Given the description of an element on the screen output the (x, y) to click on. 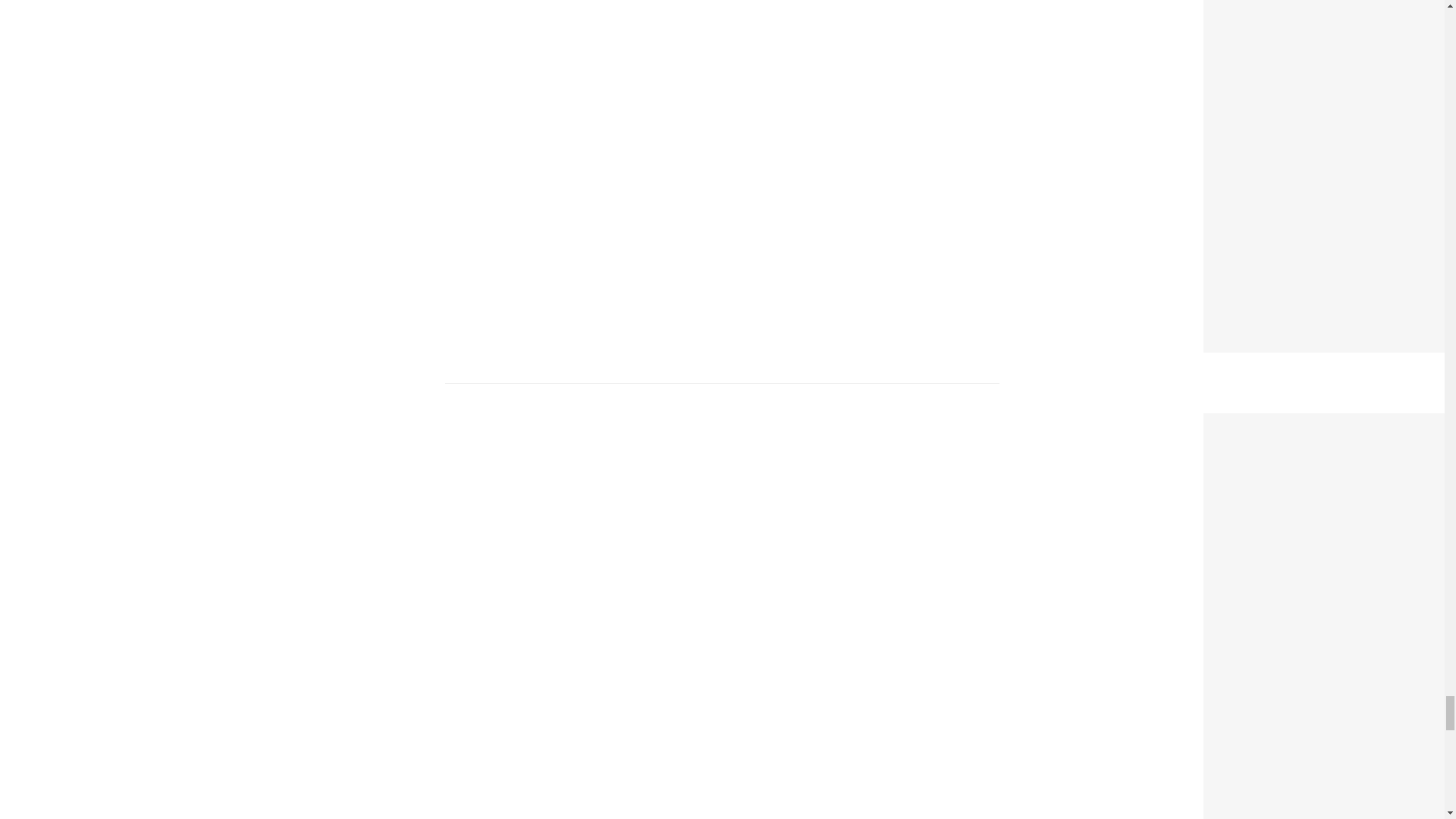
Dark Christmas Aesthetic Wallpaper Laptop (1330, 422)
